Given the description of an element on the screen output the (x, y) to click on. 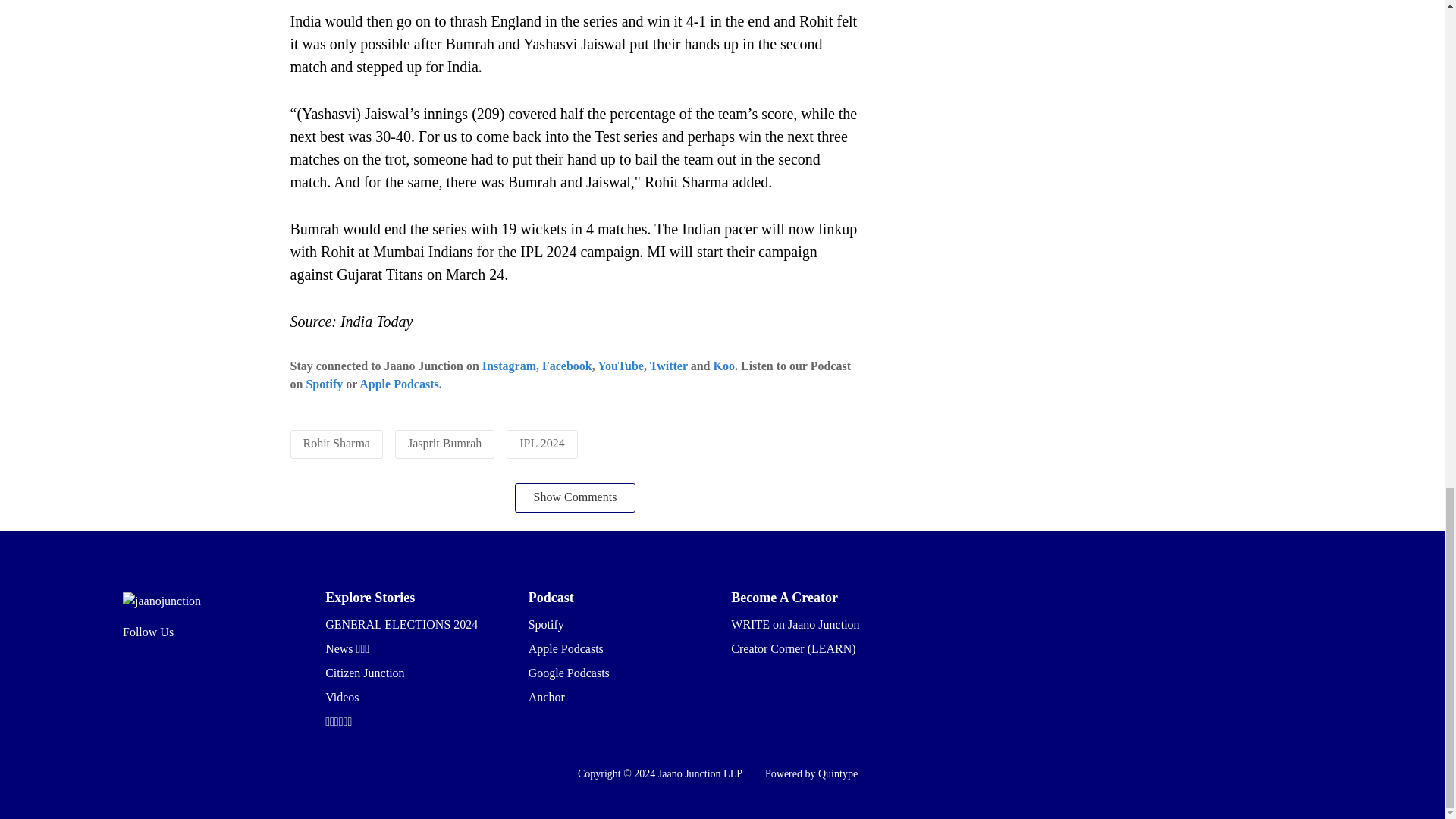
Show Comments (575, 497)
Apple Podcasts (398, 383)
Spotify (323, 383)
Instagram (508, 365)
Facebook (566, 365)
IPL 2024 (541, 442)
Rohit Sharma (335, 442)
Koo (724, 365)
Jasprit Bumrah (444, 442)
YouTube (619, 365)
Twitter (668, 365)
